Given the description of an element on the screen output the (x, y) to click on. 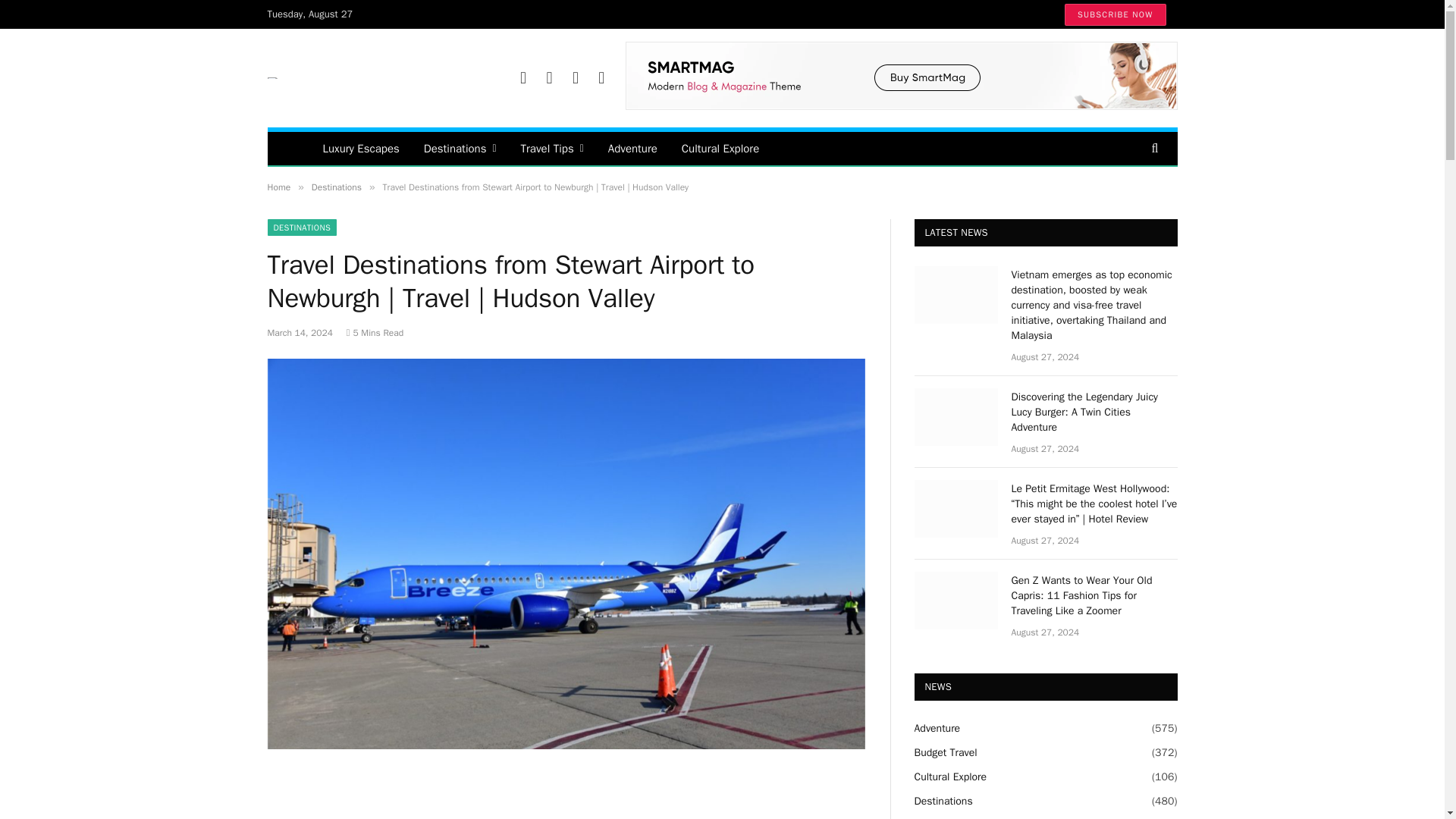
Adventure (632, 148)
DESTINATIONS (301, 227)
Travel Tips (551, 148)
Destinations (336, 186)
Destinations (460, 148)
Home (277, 186)
Cultural Explore (720, 148)
Luxury Escapes (361, 148)
SUBSCRIBE NOW (1115, 14)
